Given the description of an element on the screen output the (x, y) to click on. 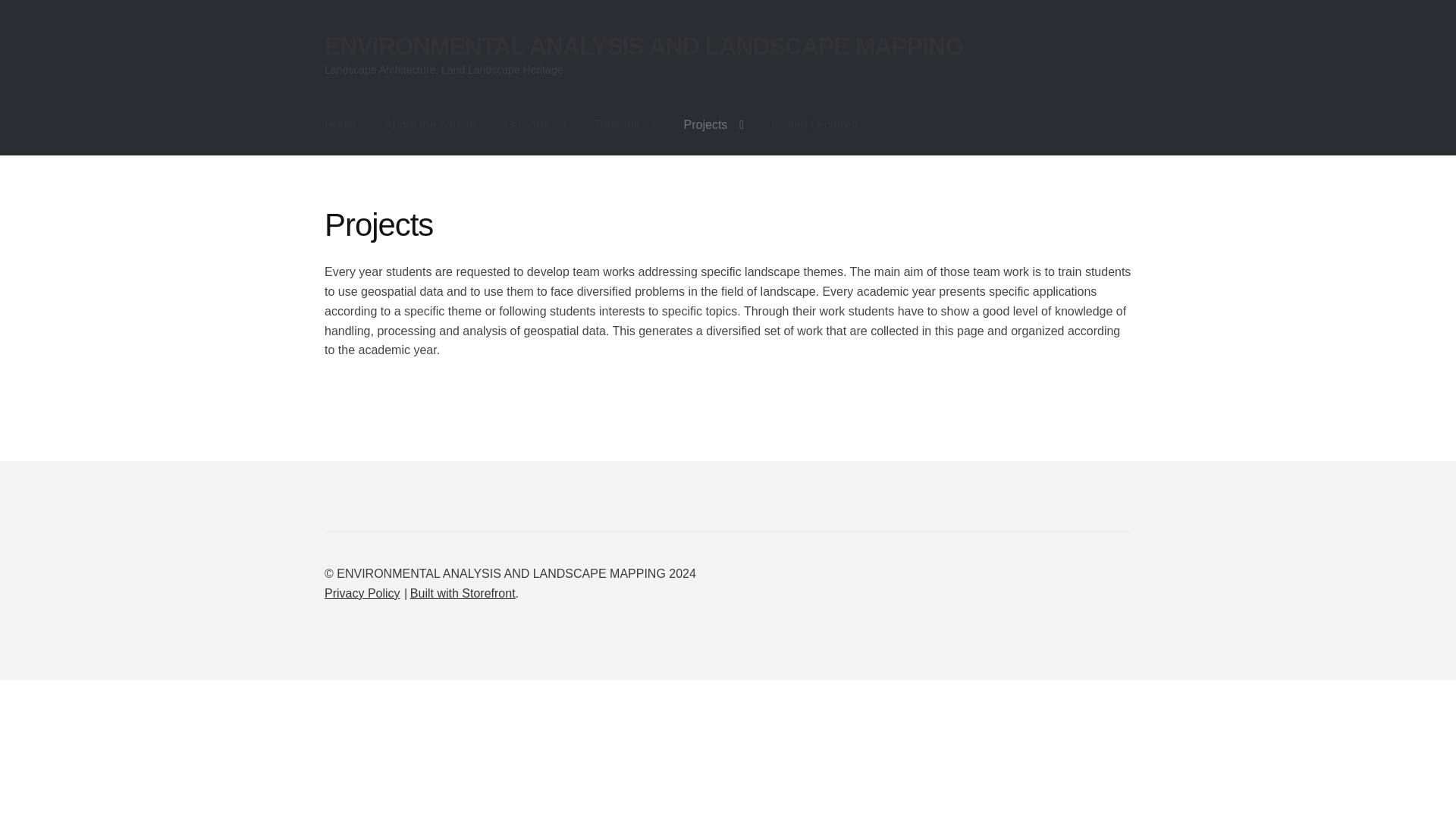
Projects (714, 124)
Home (341, 124)
Privacy Policy (362, 593)
Built with Storefront (462, 593)
Invited Lectures (814, 124)
Tutorials (624, 124)
ENVIRONMENTAL ANALYSIS AND LANDSCAPE MAPPING (643, 45)
Lessons (535, 124)
About the course (429, 124)
